Given the description of an element on the screen output the (x, y) to click on. 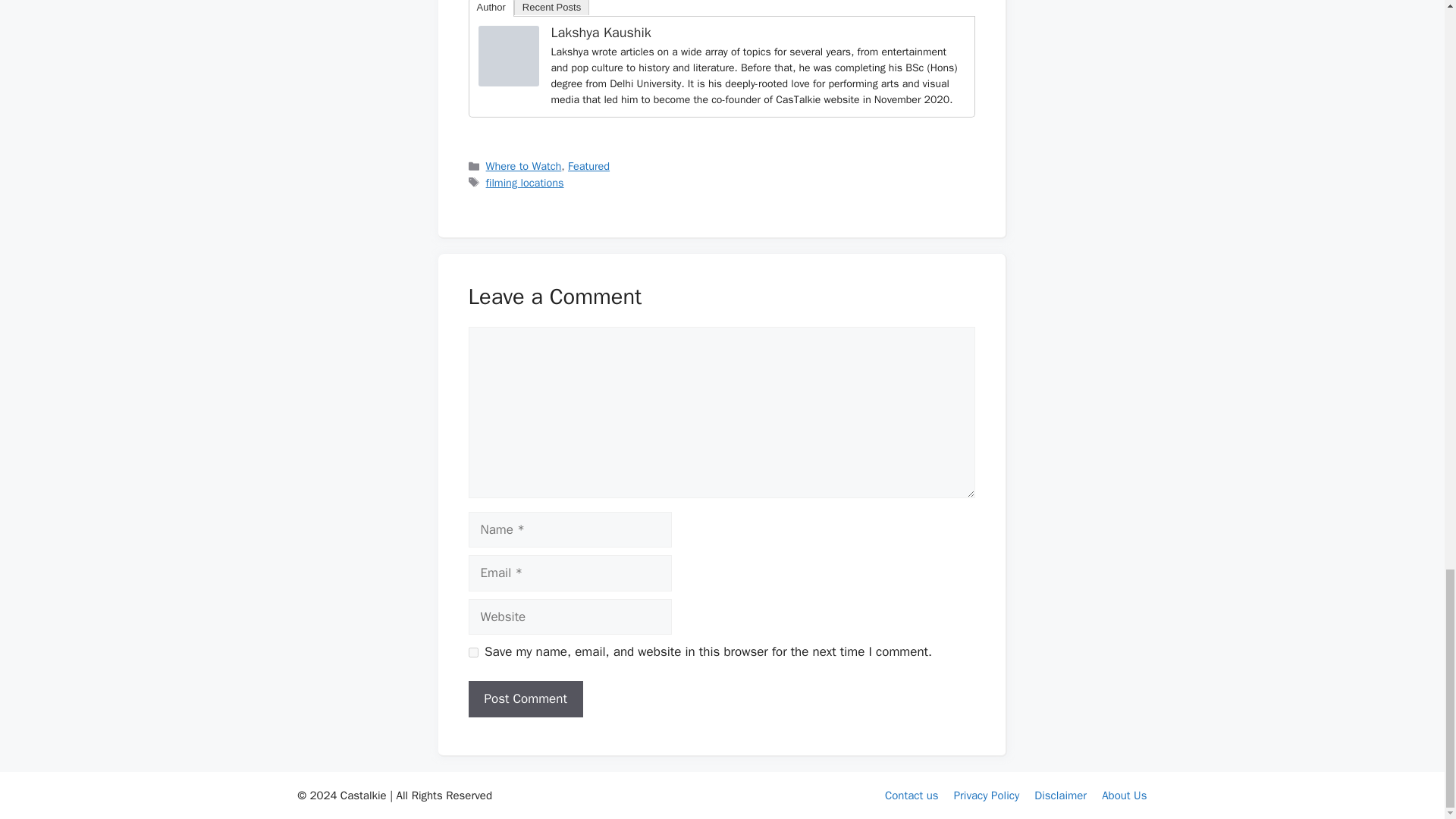
Post Comment (525, 698)
yes (473, 652)
Author (490, 8)
Where was Rescued by Ruby filmed? Netflix Cast Details (507, 55)
Disclaimer (1059, 795)
Where to Watch (524, 165)
filming locations (525, 182)
Lakshya Kaushik (600, 32)
Featured (588, 165)
About Us (1124, 795)
Contact us (912, 795)
Privacy Policy (986, 795)
Post Comment (525, 698)
Lakshya Kaushik (507, 82)
Recent Posts (551, 7)
